Given the description of an element on the screen output the (x, y) to click on. 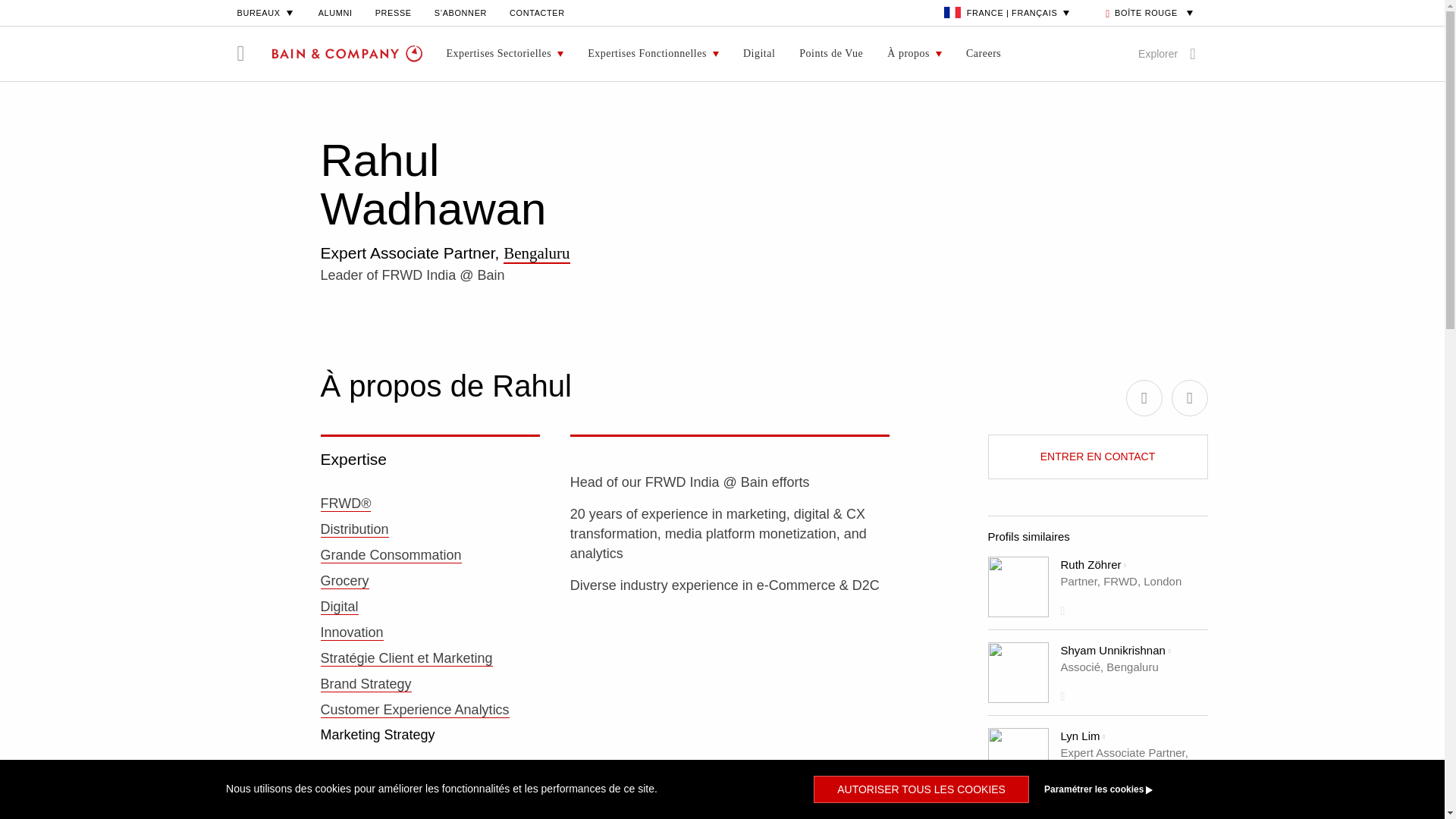
BUREAUX (265, 12)
AUTORISER TOUS LES COOKIES (921, 789)
